Given the description of an element on the screen output the (x, y) to click on. 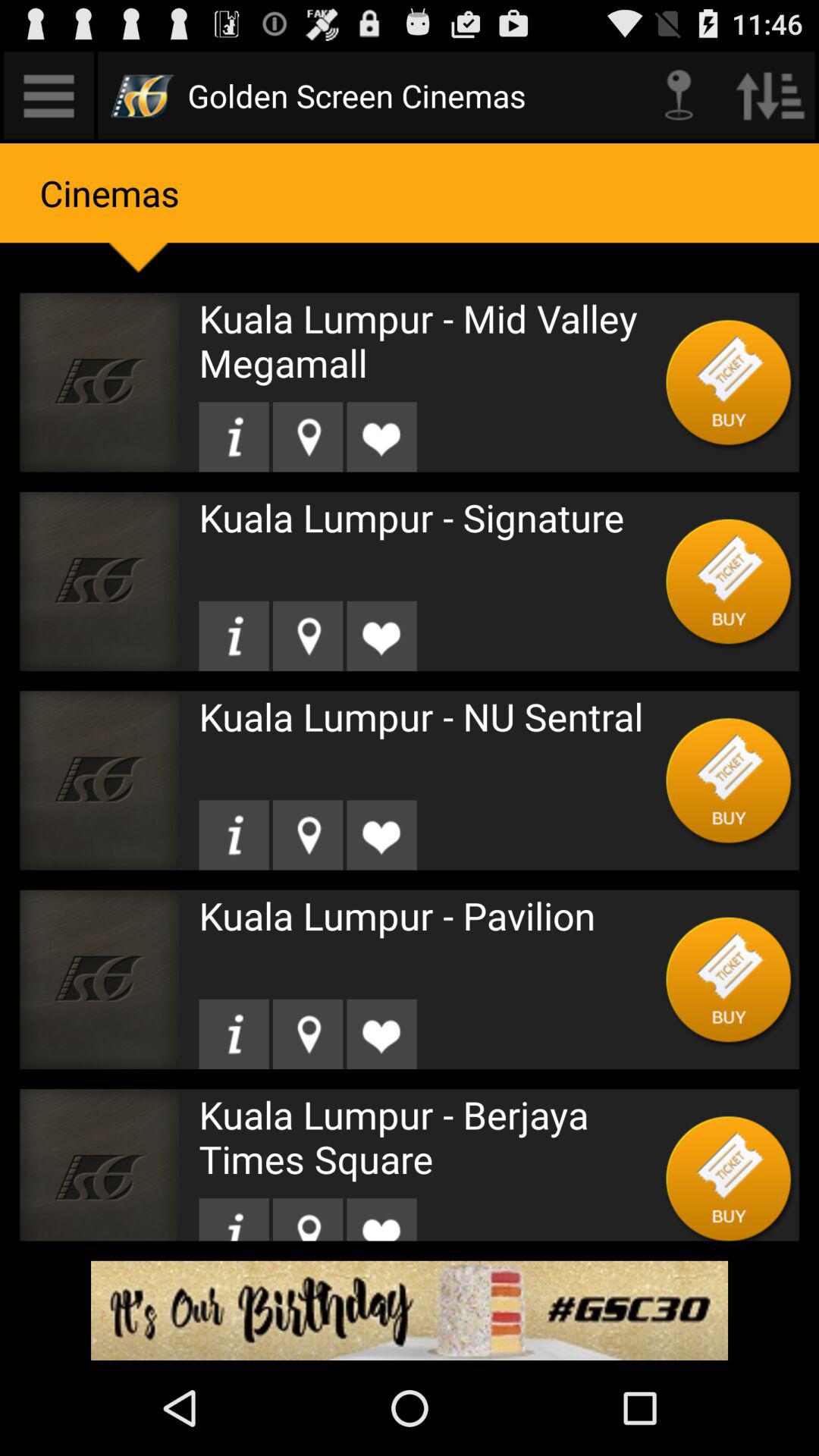
go to buy button (729, 382)
